Given the description of an element on the screen output the (x, y) to click on. 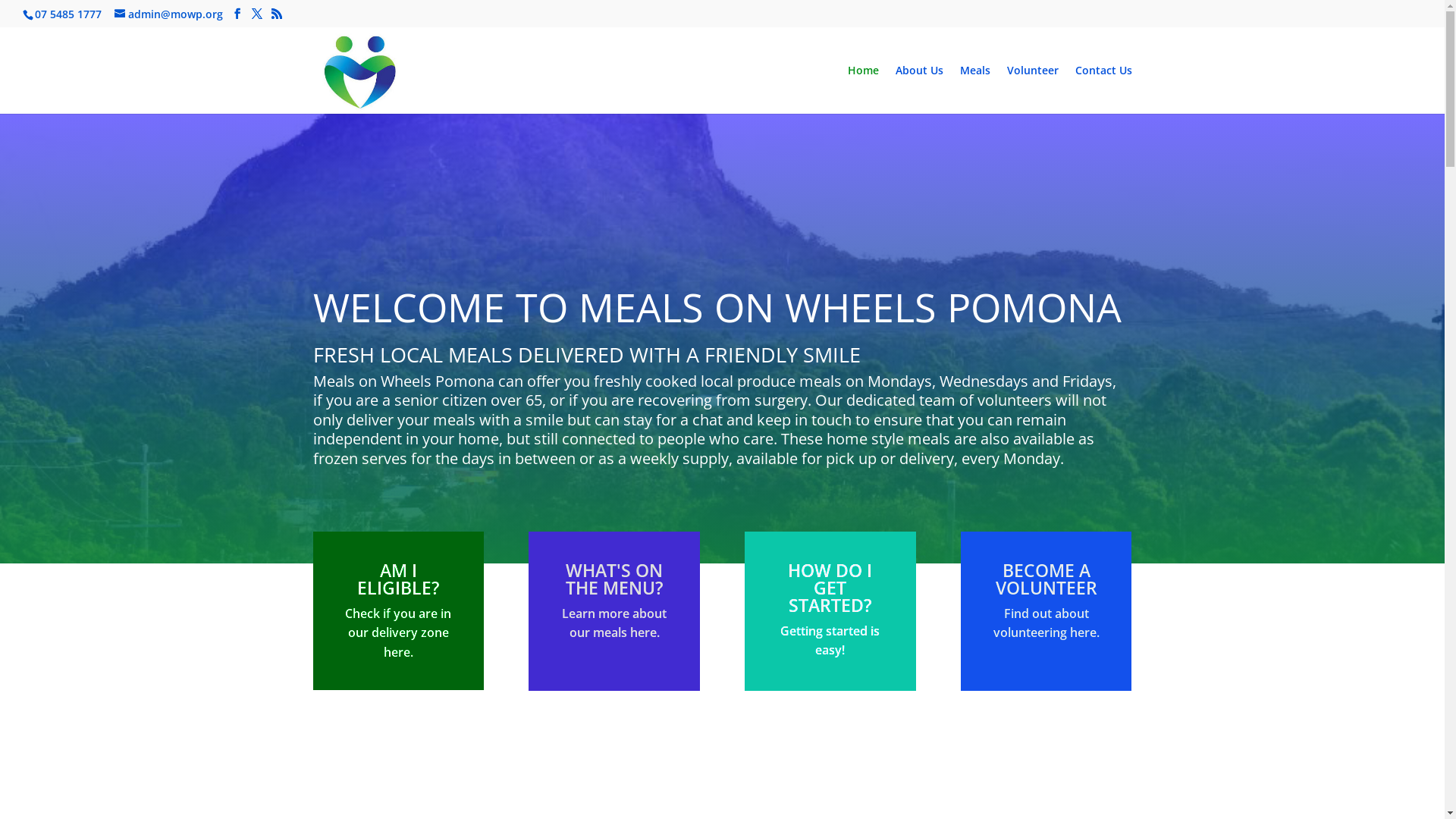
Contact Us Element type: text (1103, 89)
Meals Element type: text (975, 89)
admin@mowp.org Element type: text (168, 13)
About Us Element type: text (918, 89)
Home Element type: text (862, 89)
Volunteer Element type: text (1032, 89)
